Given the description of an element on the screen output the (x, y) to click on. 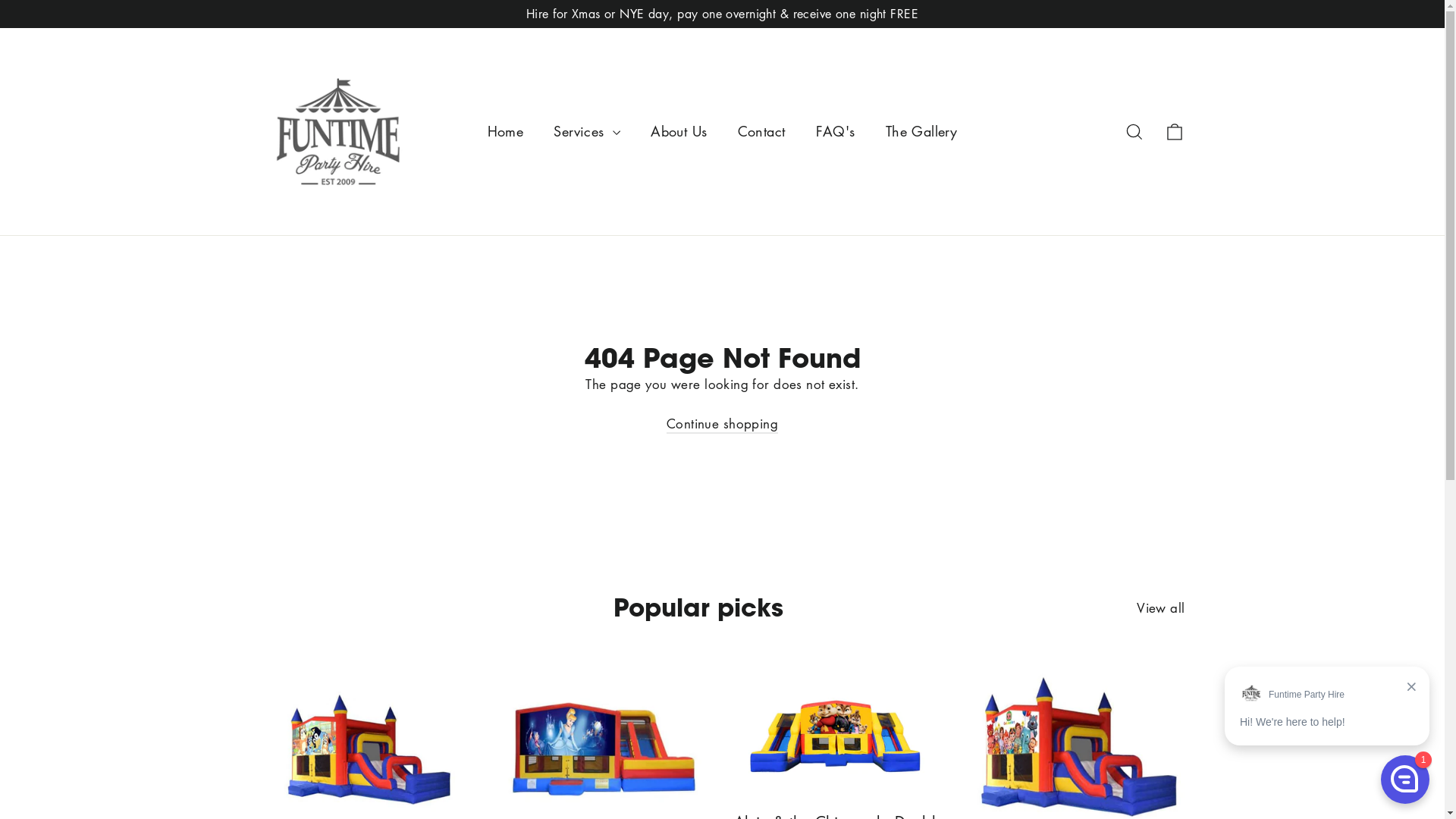
View all Element type: text (1160, 605)
Skip to content Element type: text (0, 0)
Search Element type: text (1134, 131)
About Us Element type: text (678, 131)
Continue shopping Element type: text (722, 423)
The Gallery Element type: text (921, 131)
Front Chat Element type: hover (1326, 737)
Contact Element type: text (761, 131)
Cart Element type: text (1173, 131)
Home Element type: text (505, 131)
Services Element type: text (586, 131)
FAQ's Element type: text (835, 131)
